Given the description of an element on the screen output the (x, y) to click on. 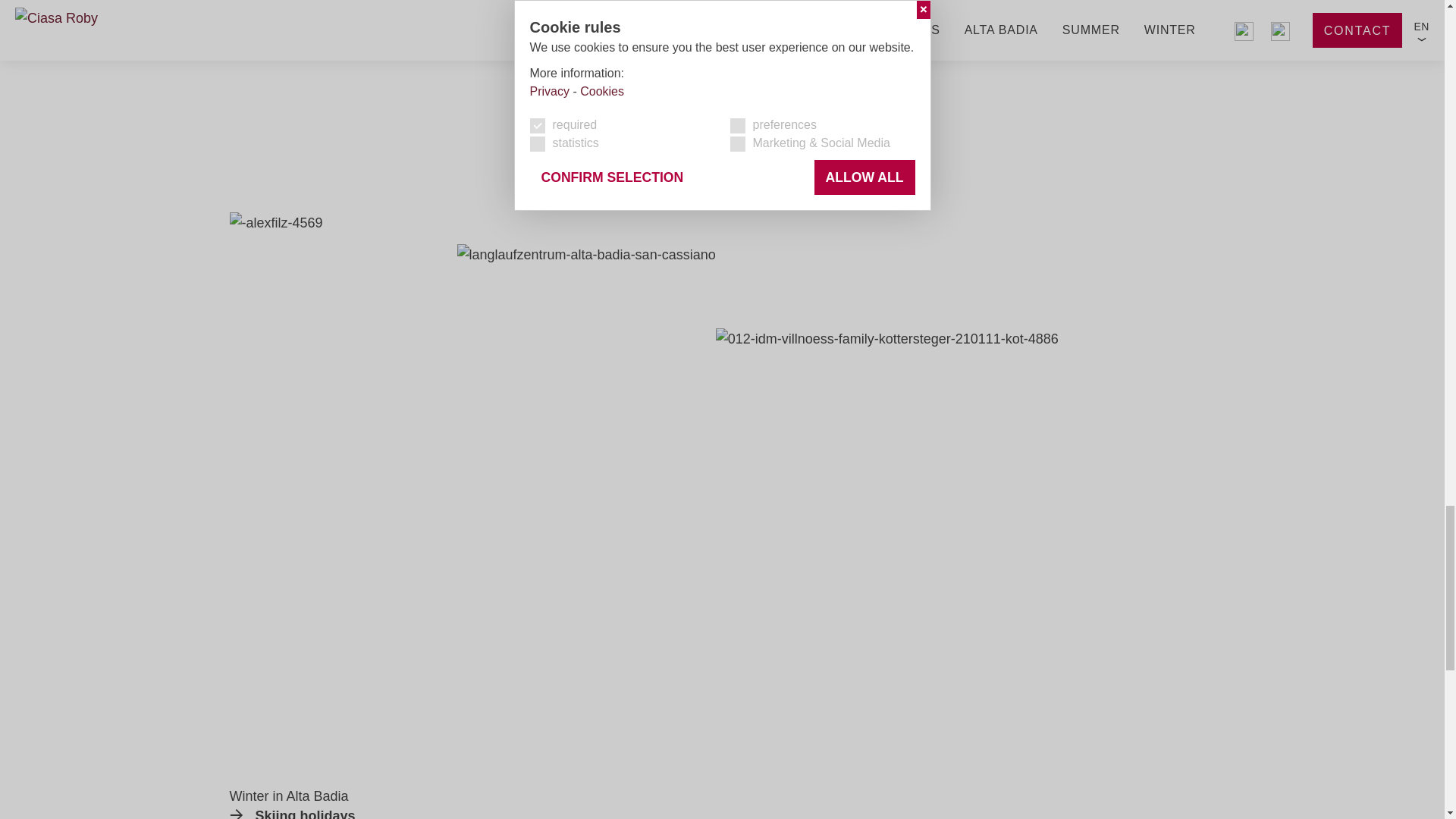
Winter in Alta Badia (291, 813)
Skiing holidays (291, 813)
